Given the description of an element on the screen output the (x, y) to click on. 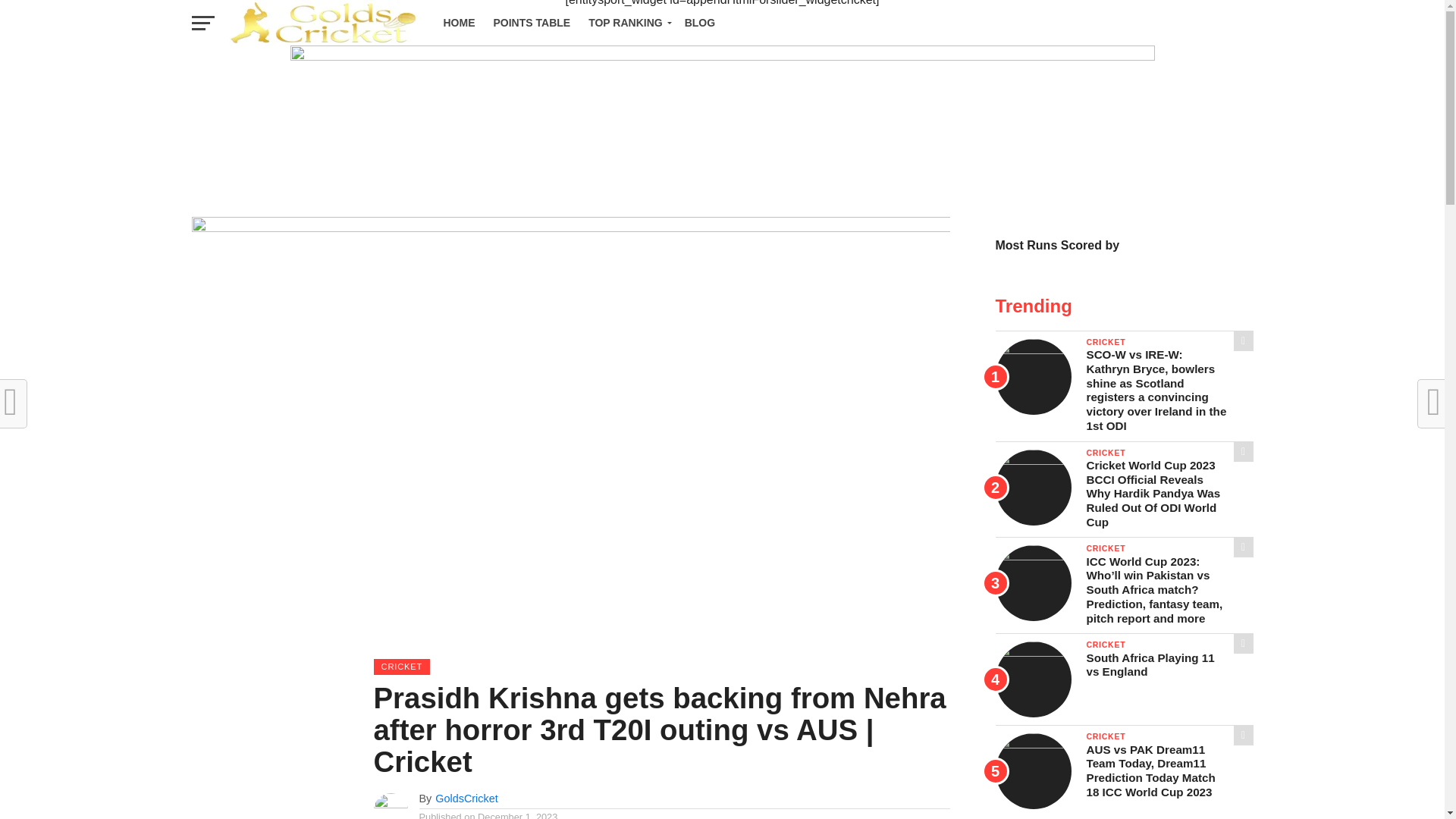
HOME (458, 22)
Posts by GoldsCricket (466, 798)
TOP RANKING (627, 22)
POINTS TABLE (531, 22)
BLOG (699, 22)
GoldsCricket (466, 798)
